Given the description of an element on the screen output the (x, y) to click on. 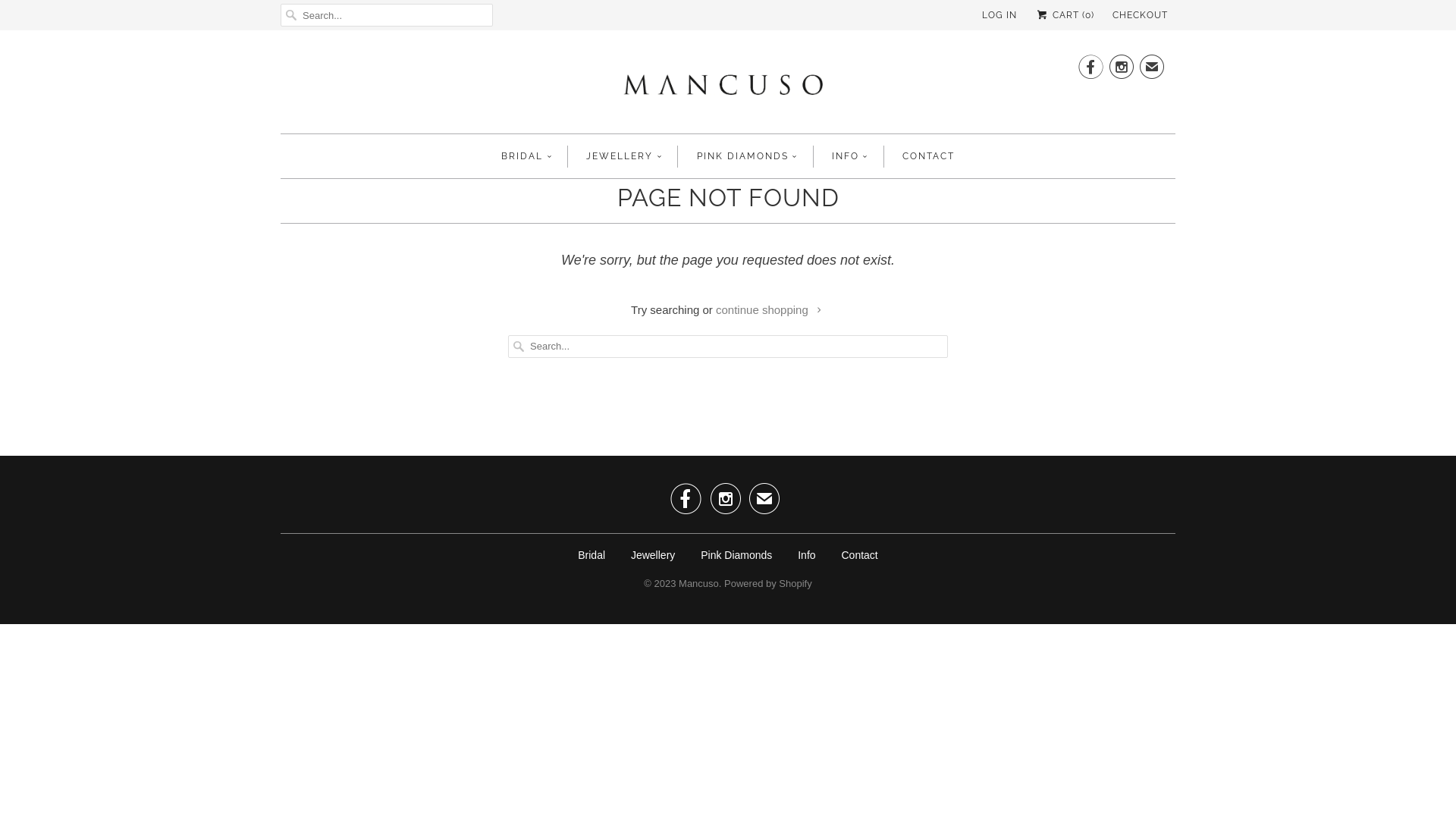
Powered by Shopify Element type: text (768, 578)
LOG IN Element type: text (999, 14)
Contact Element type: text (858, 555)
Info Element type: text (806, 555)
Jewellery Element type: text (652, 555)
INFO Element type: text (849, 156)
Bridal Element type: text (591, 555)
Mancuso Element type: hover (727, 85)
CART (0) Element type: text (1064, 14)
CONTACT Element type: text (928, 155)
Mancuso Element type: text (698, 578)
JEWELLERY Element type: text (624, 156)
CHECKOUT Element type: text (1139, 14)
BRIDAL Element type: text (526, 156)
continue shopping Element type: text (770, 309)
Pink Diamonds Element type: text (735, 555)
PINK DIAMONDS Element type: text (746, 156)
